Given the description of an element on the screen output the (x, y) to click on. 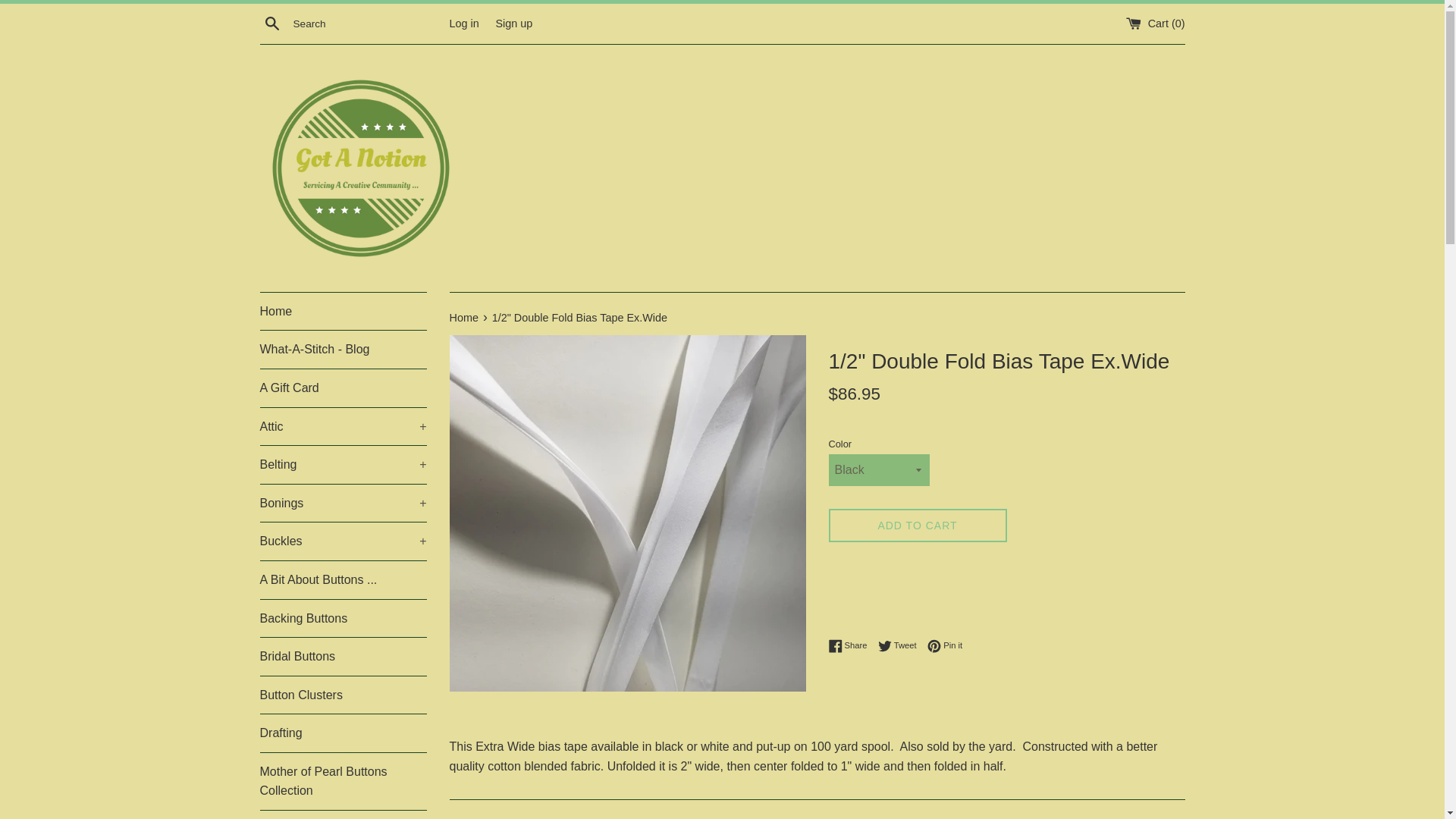
Home (342, 311)
Tweet on Twitter (900, 645)
A Gift Card (342, 388)
Pin on Pinterest (944, 645)
Share on Facebook (851, 645)
Back to the frontpage (464, 317)
Sign up (513, 22)
Log in (463, 22)
What-A-Stitch - Blog (342, 349)
Search (271, 22)
